Given the description of an element on the screen output the (x, y) to click on. 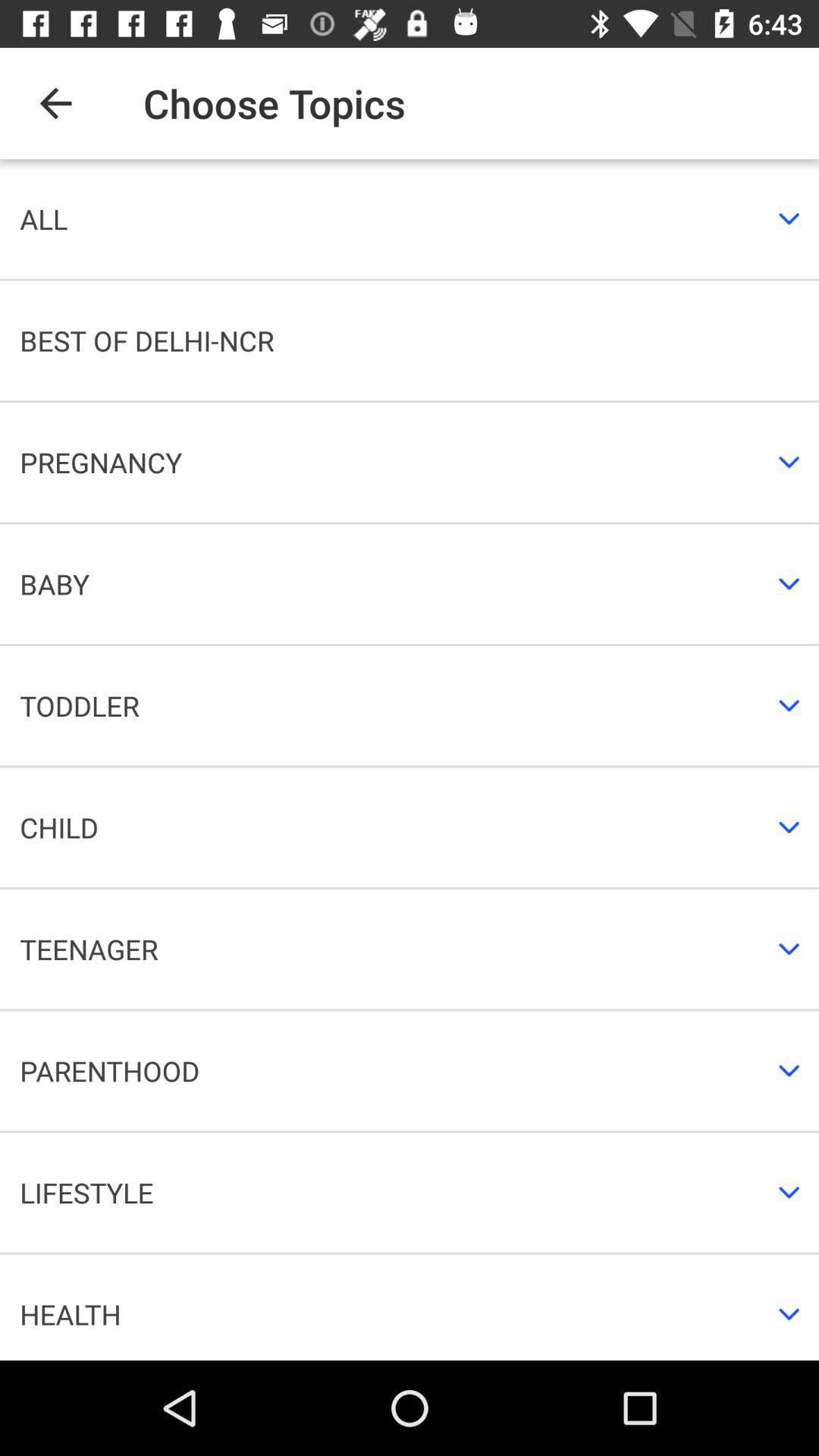
turn on the item to the left of the choose topics icon (55, 103)
